Given the description of an element on the screen output the (x, y) to click on. 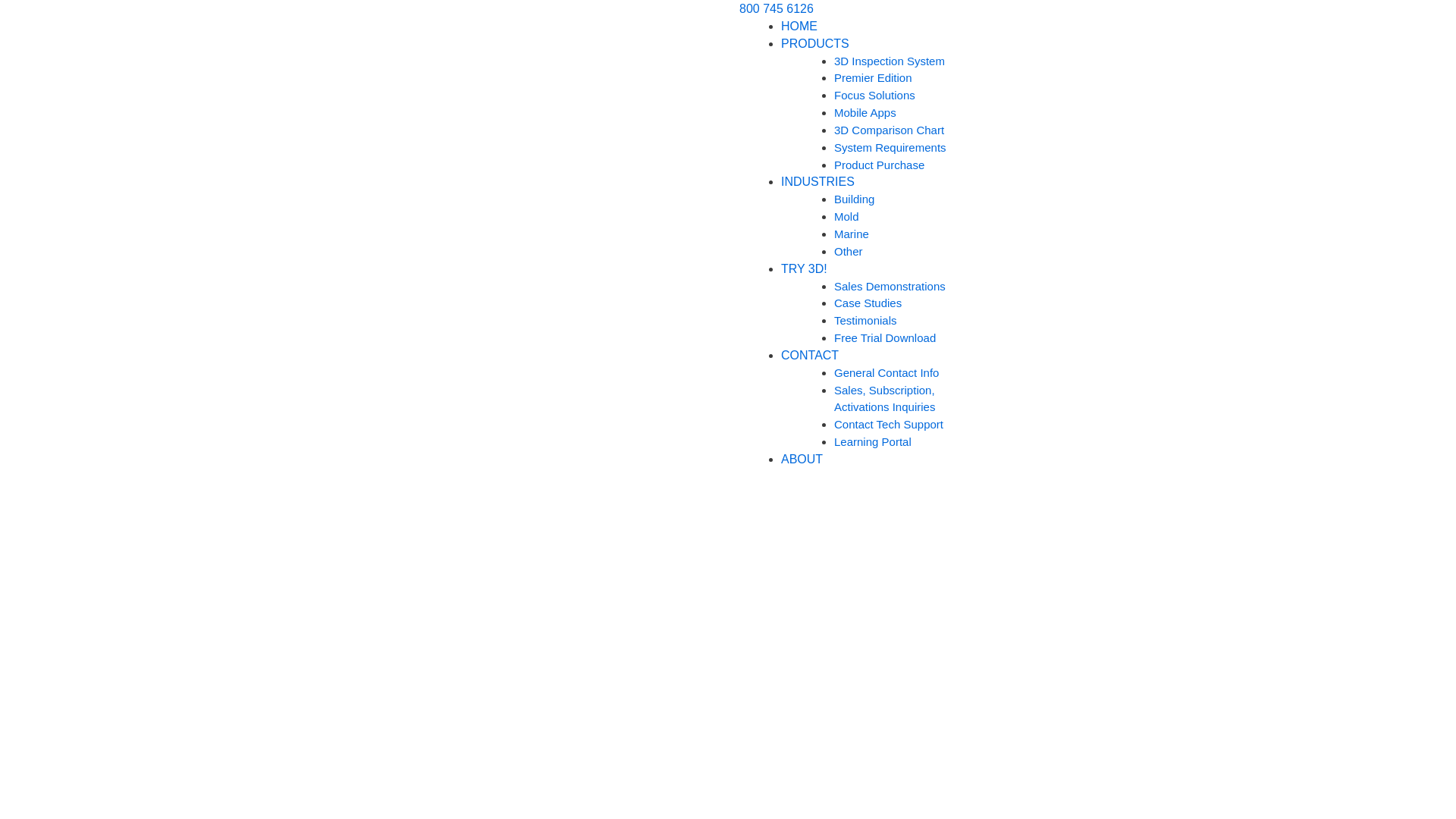
Sales, Subscription, Activations Inquiries Element type: text (884, 398)
Other Element type: text (848, 250)
ABOUT Element type: text (801, 458)
Building Element type: text (854, 198)
Marine Element type: text (851, 233)
System Requirements Element type: text (890, 147)
Sales Demonstrations Element type: text (889, 285)
800 745 6126 Element type: text (776, 8)
PRODUCTS Element type: text (815, 43)
Contact Tech Support Element type: text (888, 423)
Mold Element type: text (846, 216)
INDUSTRIES Element type: text (817, 181)
TRY 3D! Element type: text (804, 268)
Learning Portal Element type: text (872, 441)
CONTACT Element type: text (809, 354)
Free Trial Download Element type: text (884, 337)
Premier Edition Element type: text (873, 77)
Focus Solutions Element type: text (874, 94)
Product Purchase Element type: text (879, 164)
HOME Element type: text (799, 25)
3D Inspection System Element type: text (889, 60)
Mobile Apps Element type: text (865, 112)
General Contact Info Element type: text (886, 372)
Case Studies Element type: text (867, 302)
3D Comparison Chart Element type: text (889, 129)
Testimonials Element type: text (865, 319)
